Given the description of an element on the screen output the (x, y) to click on. 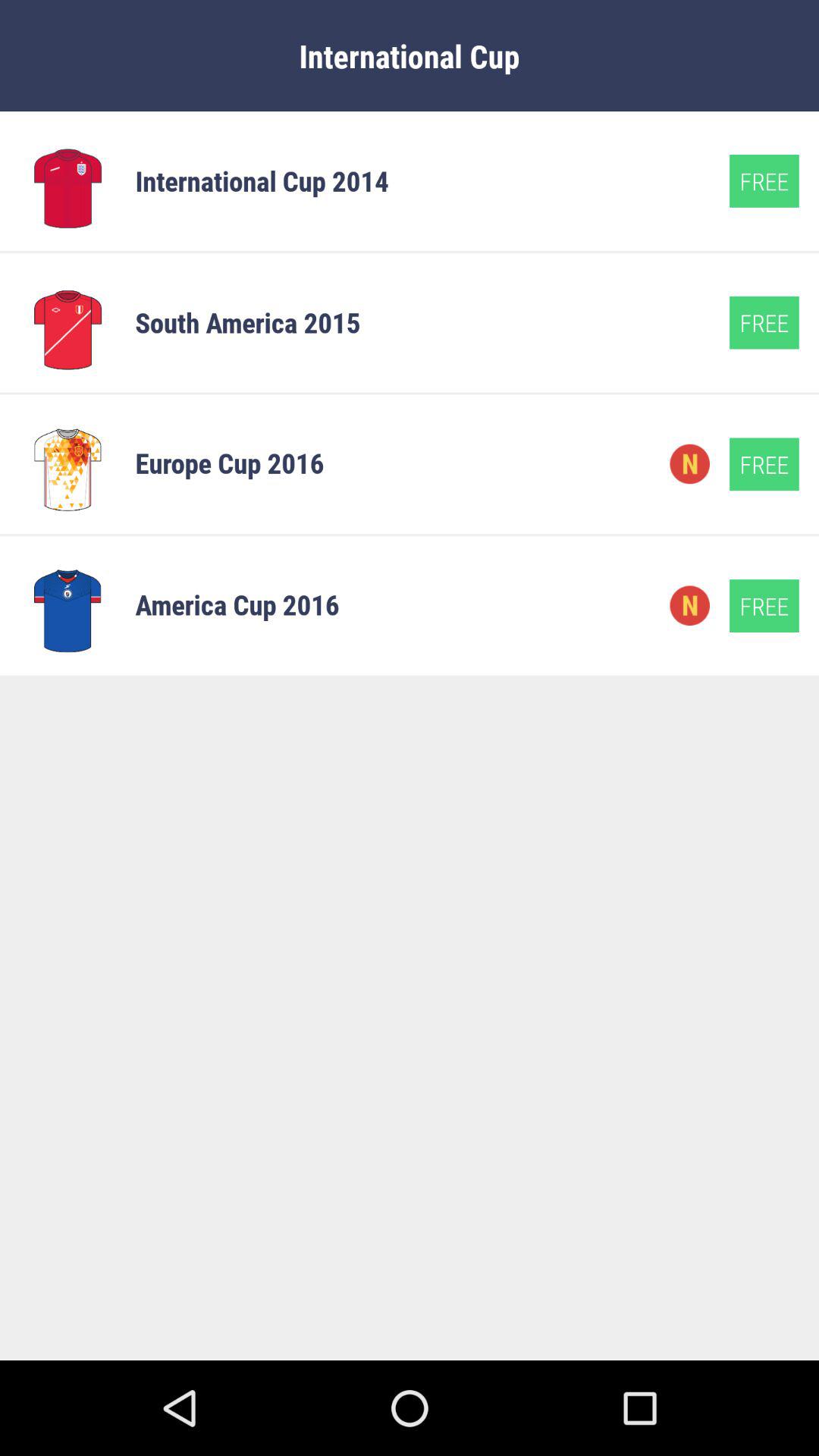
select the shirt icon which is in first coloum (67, 180)
select the image on left to the text america cup 2016 on the web page (67, 605)
